Given the description of an element on the screen output the (x, y) to click on. 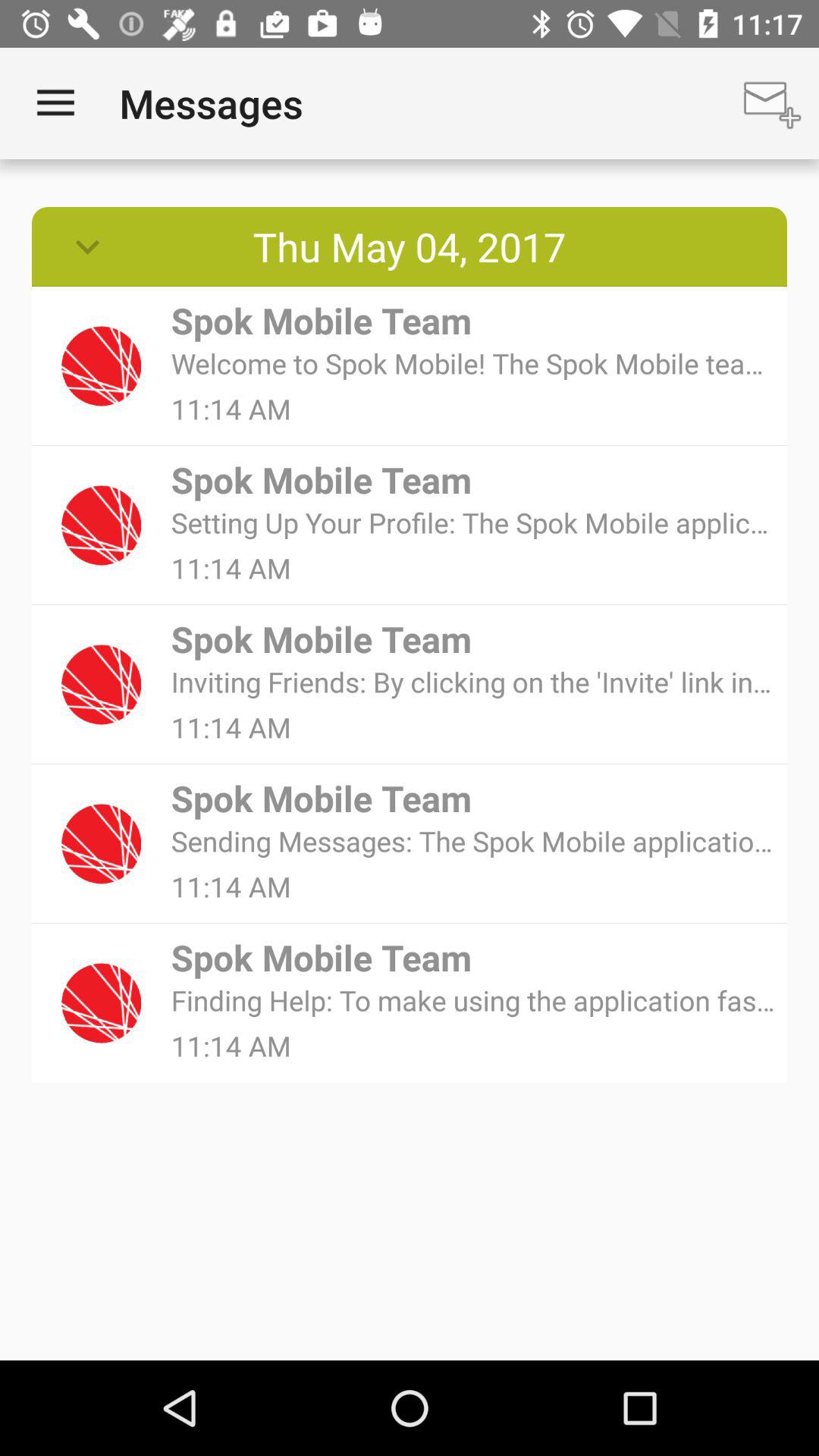
turn on the icon to the left of the messages (55, 103)
